Given the description of an element on the screen output the (x, y) to click on. 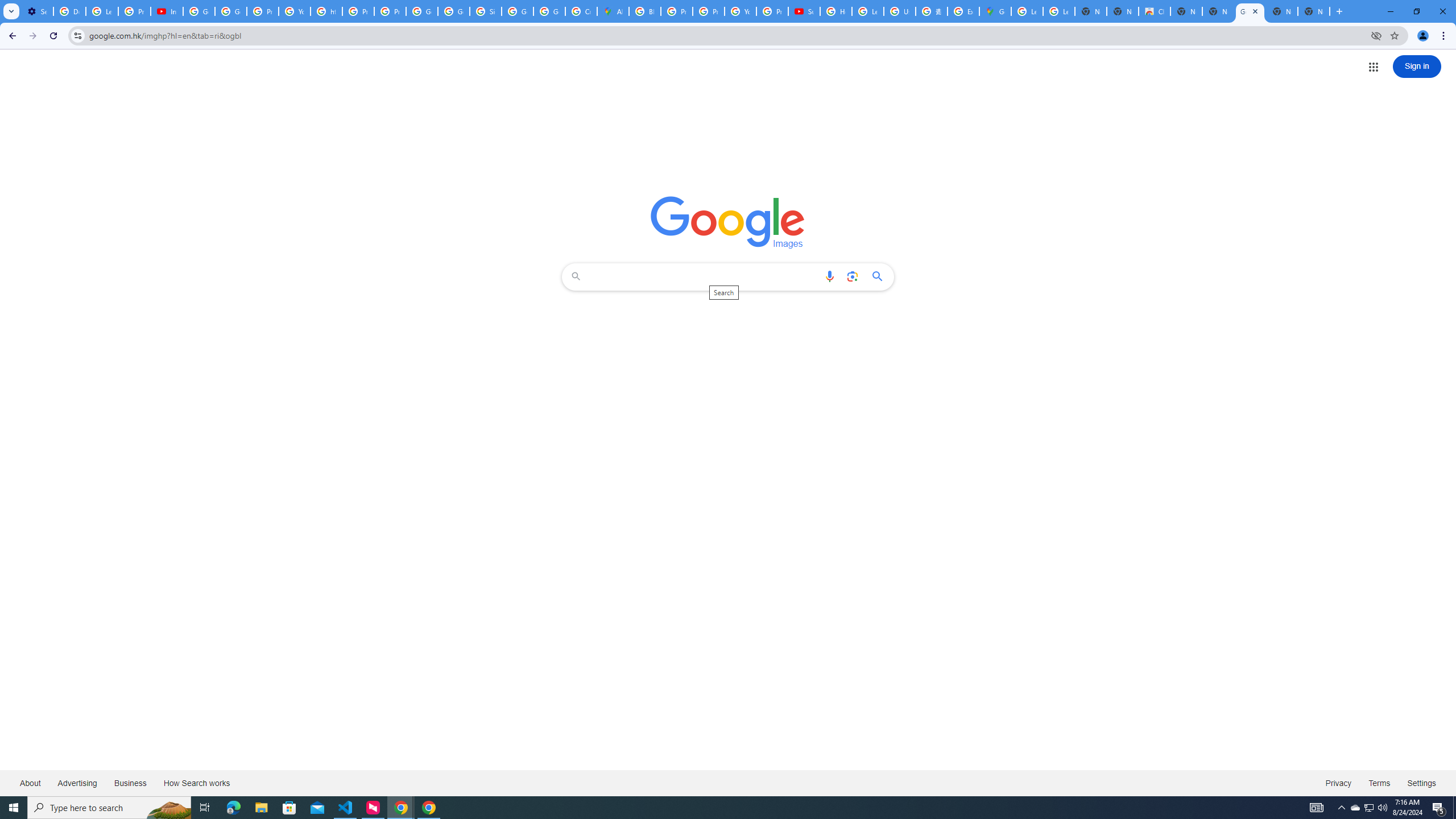
Sign in - Google Accounts (485, 11)
Privacy Help Center - Policies Help (708, 11)
Google Images (727, 222)
Search by voice (829, 276)
Google Account Help (230, 11)
Google Images (1249, 11)
YouTube (294, 11)
